Given the description of an element on the screen output the (x, y) to click on. 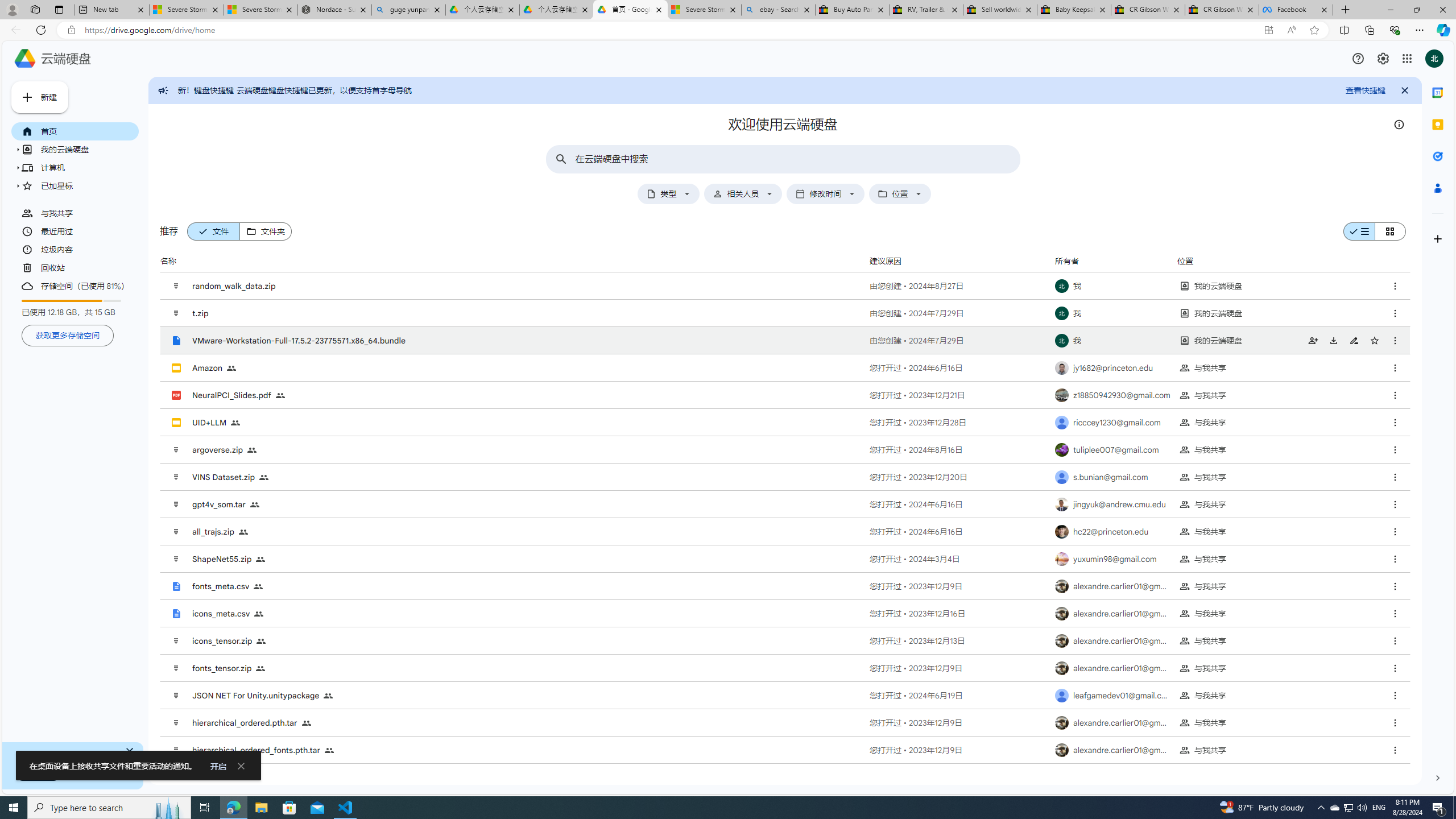
Tasks (1437, 155)
Class: Q6yead QJZfhe  (26, 97)
Keep (1437, 124)
